Given the description of an element on the screen output the (x, y) to click on. 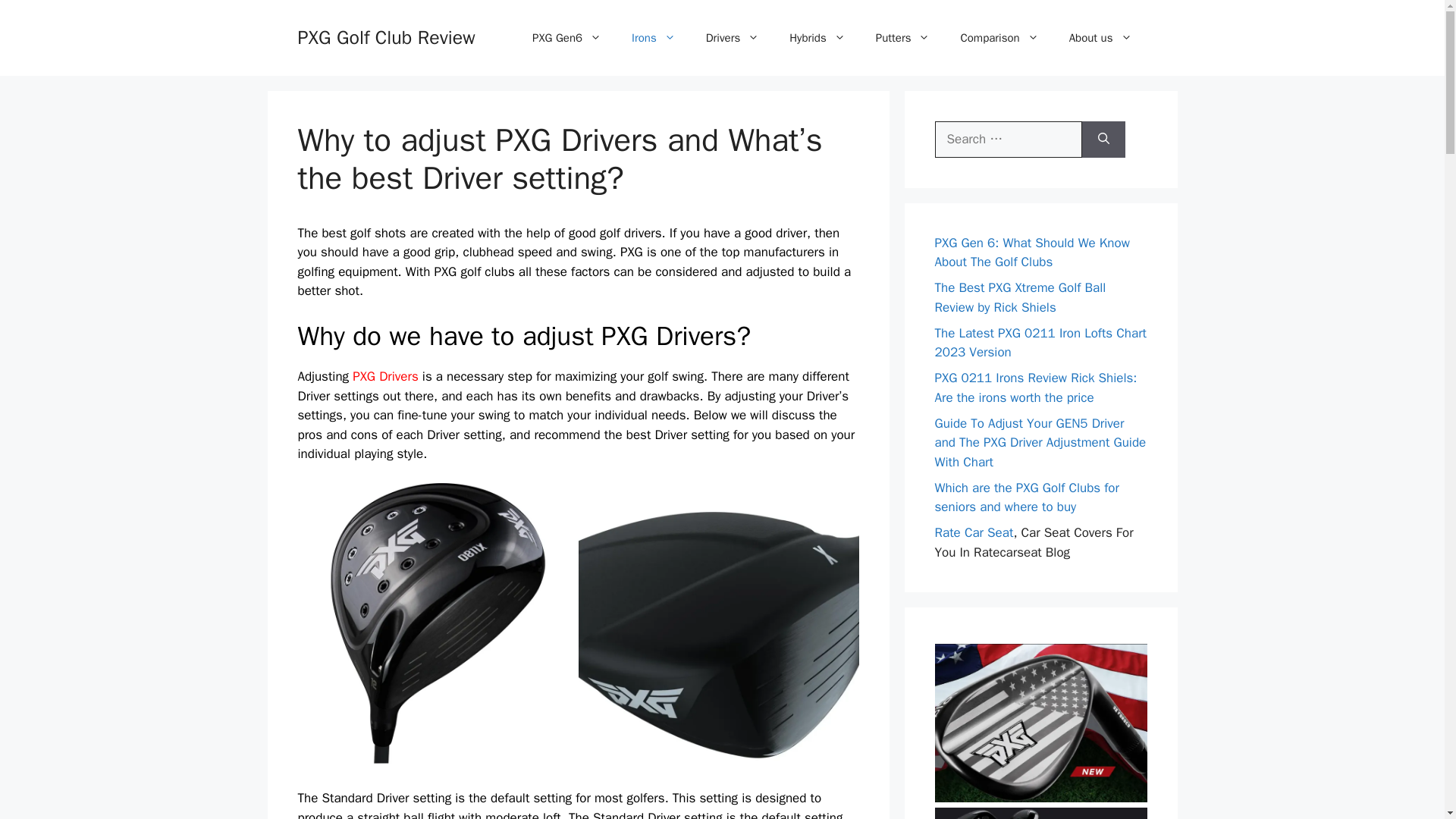
Irons (652, 37)
Putters (902, 37)
Comparison (998, 37)
Search for: (1007, 139)
Hybrids (817, 37)
Drivers (732, 37)
About us (1100, 37)
PXG Gen6 (565, 37)
PXG Golf Club Review (385, 37)
